Given the description of an element on the screen output the (x, y) to click on. 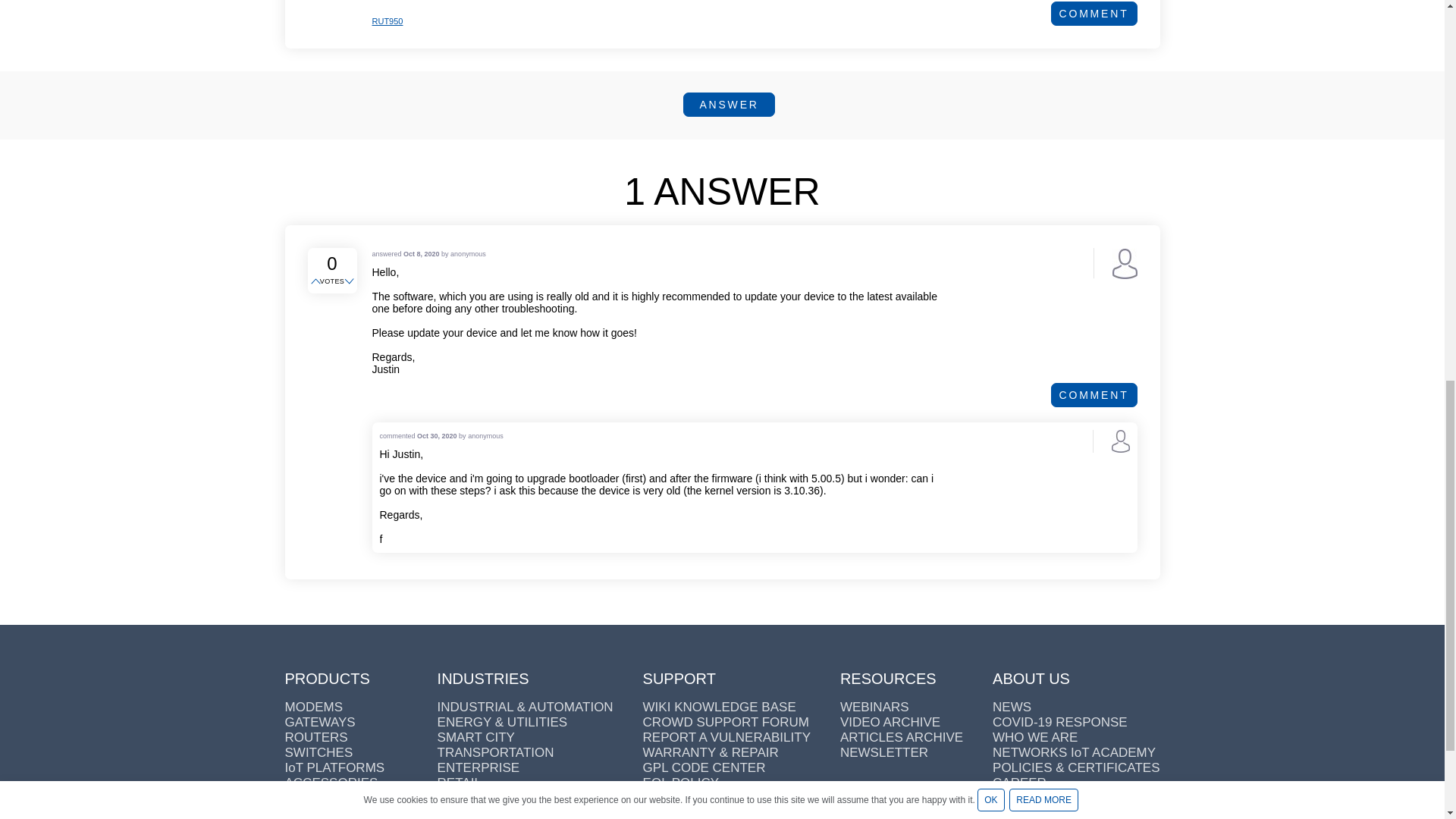
comment (1094, 13)
comment (1094, 395)
Click to vote down (349, 281)
Add a comment on this answer (1094, 395)
answer (728, 104)
Add a comment on this question (1094, 13)
Click to vote up (317, 281)
Answer this question (728, 104)
